Given the description of an element on the screen output the (x, y) to click on. 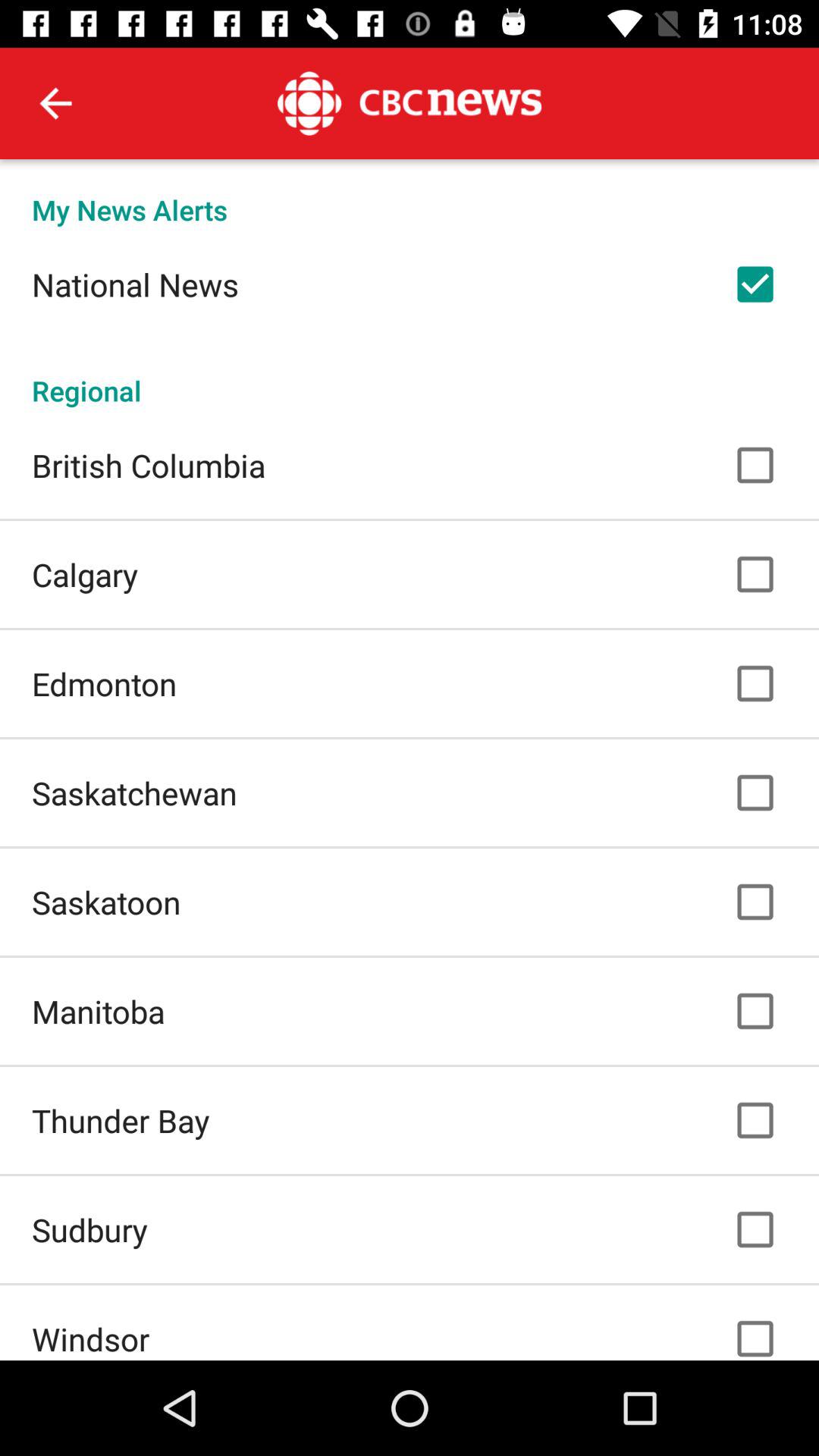
select national news (134, 283)
